Given the description of an element on the screen output the (x, y) to click on. 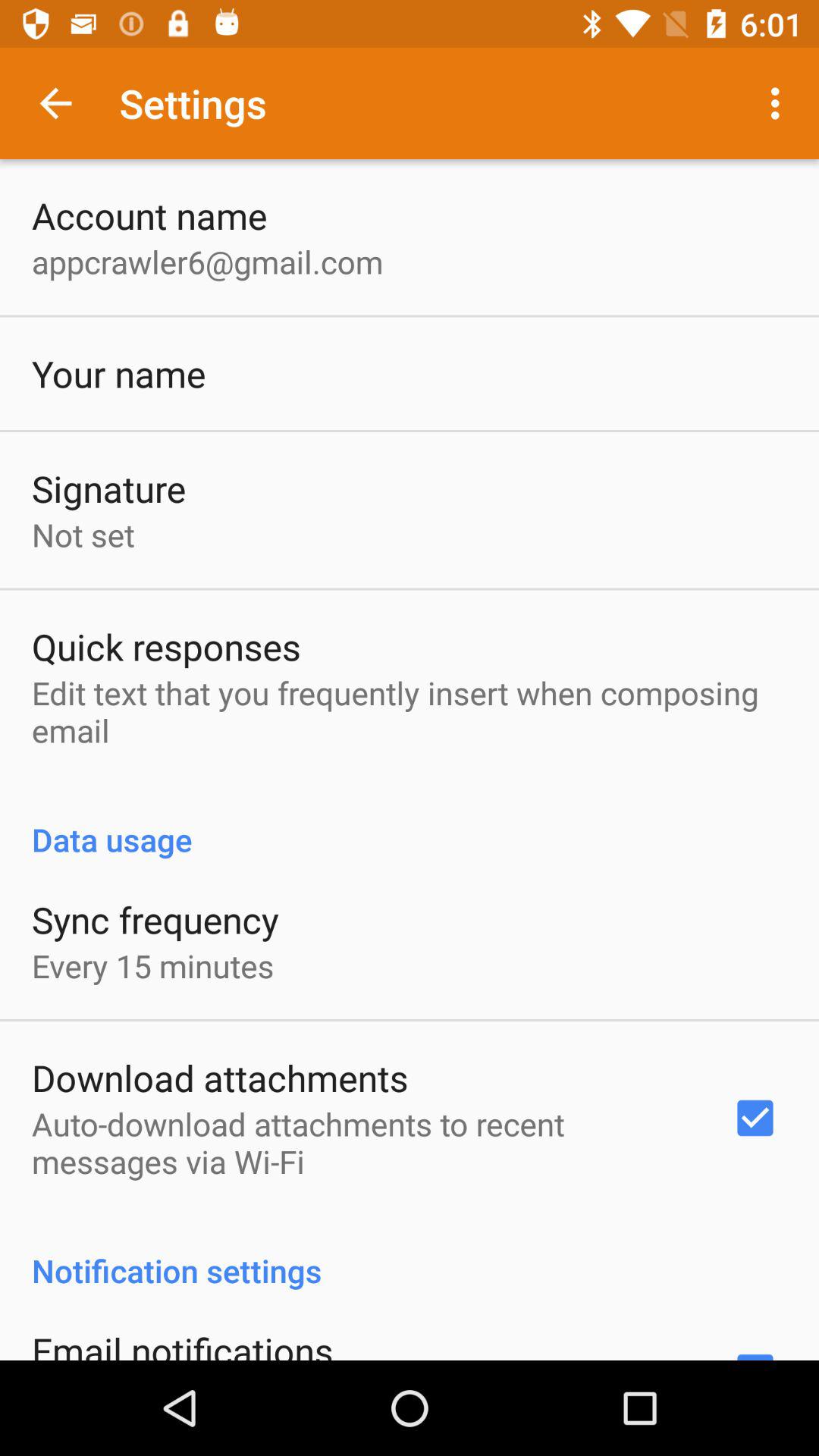
open every 15 minutes item (152, 965)
